Given the description of an element on the screen output the (x, y) to click on. 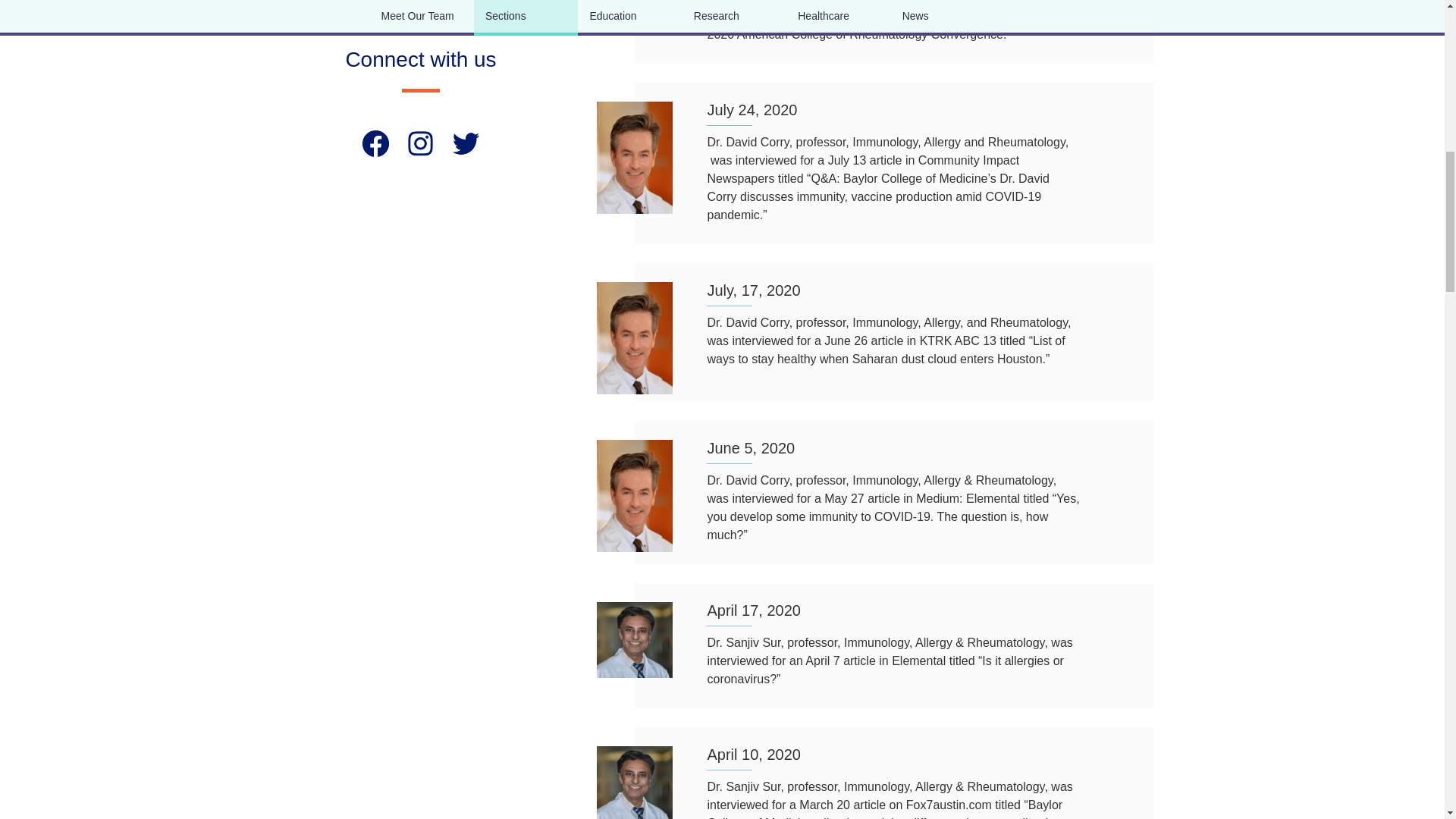
twitter (465, 143)
facebook (375, 143)
instagram (420, 143)
